Given the description of an element on the screen output the (x, y) to click on. 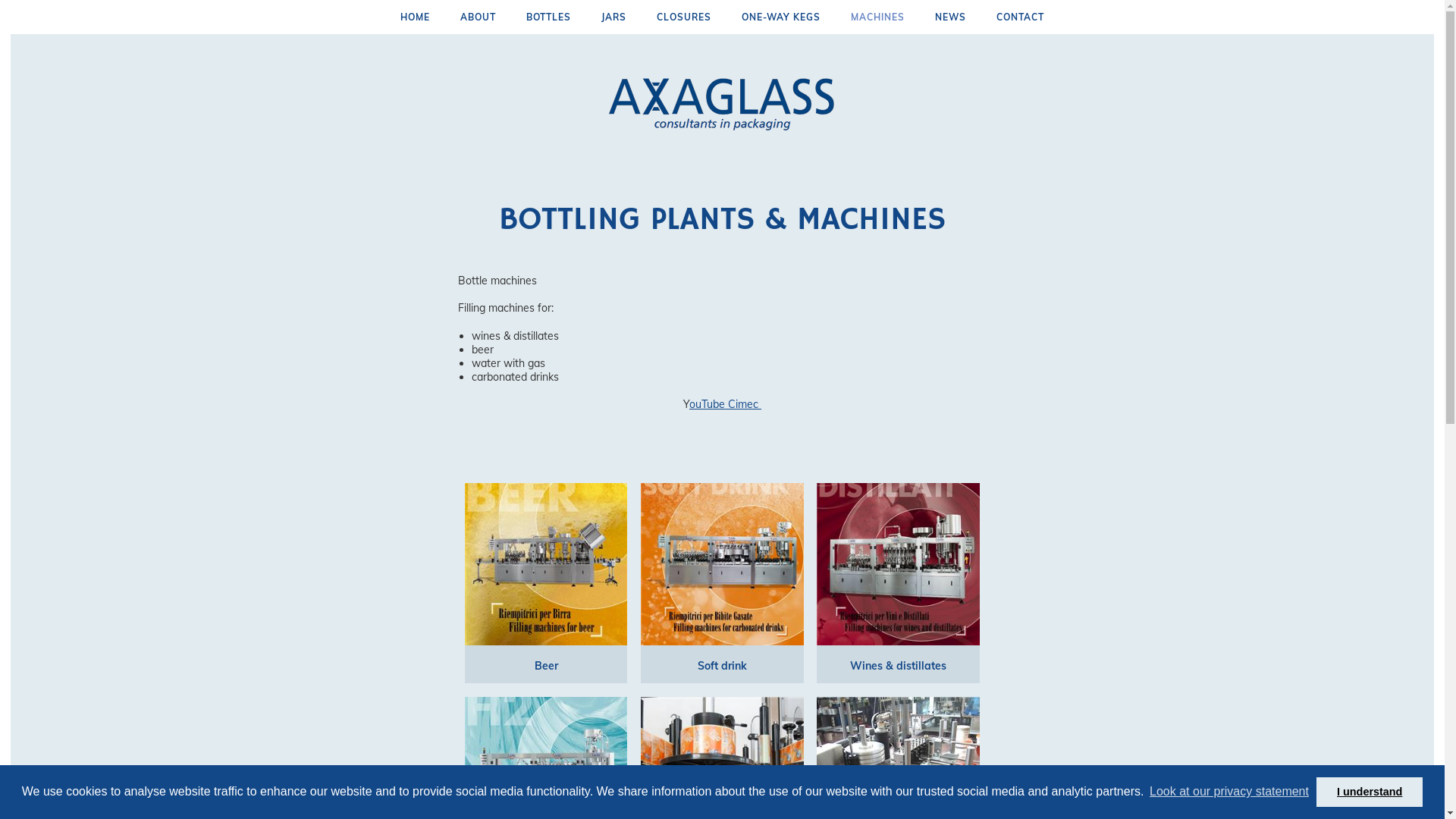
NEWS Element type: text (950, 17)
ONE-WAY KEGS Element type: text (781, 17)
MACHINES Element type: text (877, 17)
I understand Element type: text (1369, 791)
AXA Glass Element type: hover (721, 103)
CONTACT Element type: text (1019, 17)
Wines & distillates Element type: text (897, 665)
ouTube Cimec  Element type: text (725, 404)
Beer Element type: text (545, 665)
JARS Element type: text (613, 17)
CLOSURES Element type: text (683, 17)
Look at our privacy statement Element type: text (1229, 791)
Soft drink Element type: text (721, 665)
HOME Element type: text (414, 17)
BOTTLES Element type: text (548, 17)
ABOUT Element type: text (477, 17)
